Given the description of an element on the screen output the (x, y) to click on. 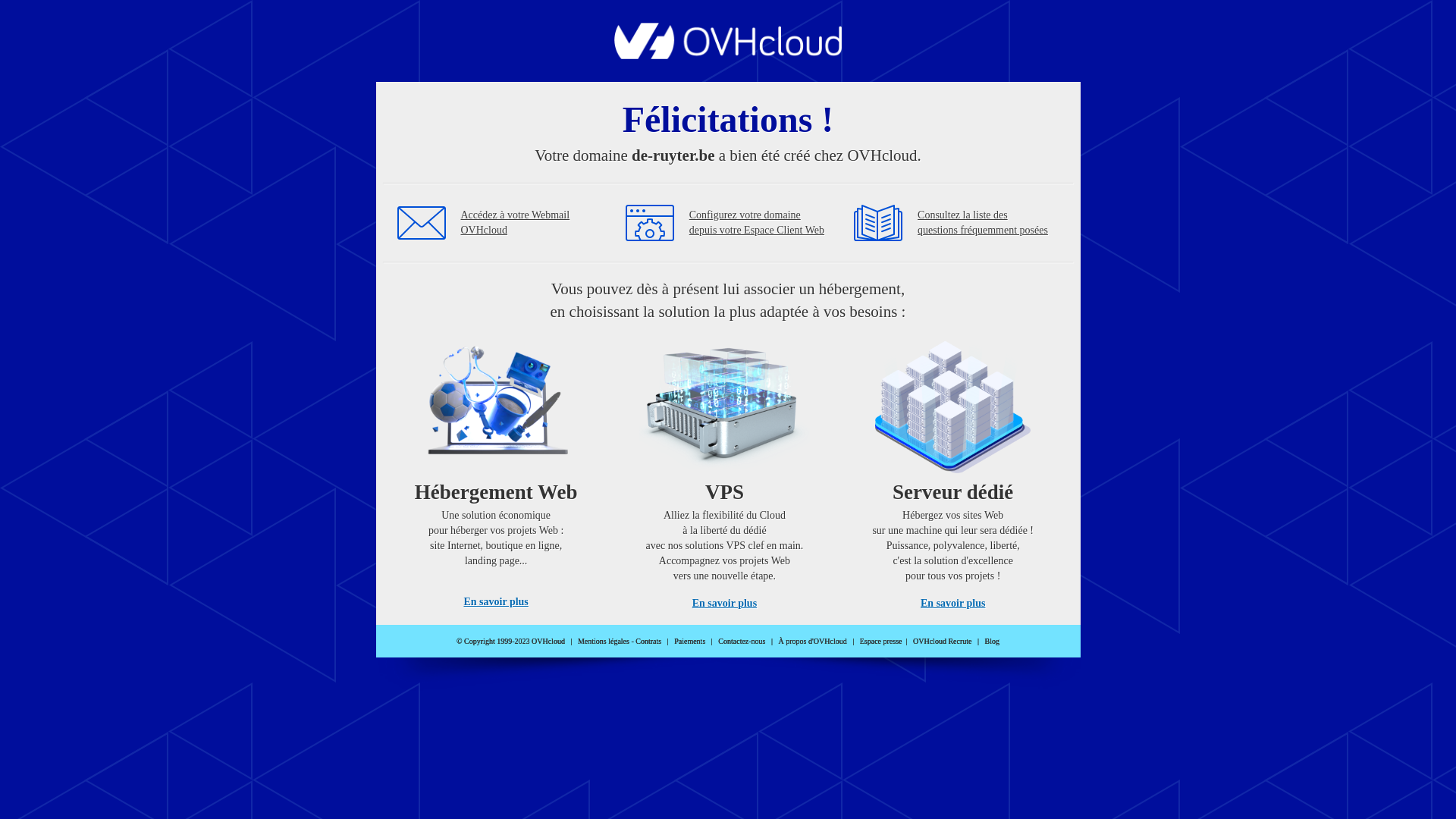
Contactez-nous Element type: text (741, 641)
OVHcloud Element type: hover (727, 54)
VPS Element type: hover (724, 469)
En savoir plus Element type: text (724, 602)
En savoir plus Element type: text (495, 601)
Espace presse Element type: text (880, 641)
Blog Element type: text (992, 641)
En savoir plus Element type: text (952, 602)
Configurez votre domaine
depuis votre Espace Client Web Element type: text (756, 222)
Paiements Element type: text (689, 641)
OVHcloud Recrute Element type: text (942, 641)
